Given the description of an element on the screen output the (x, y) to click on. 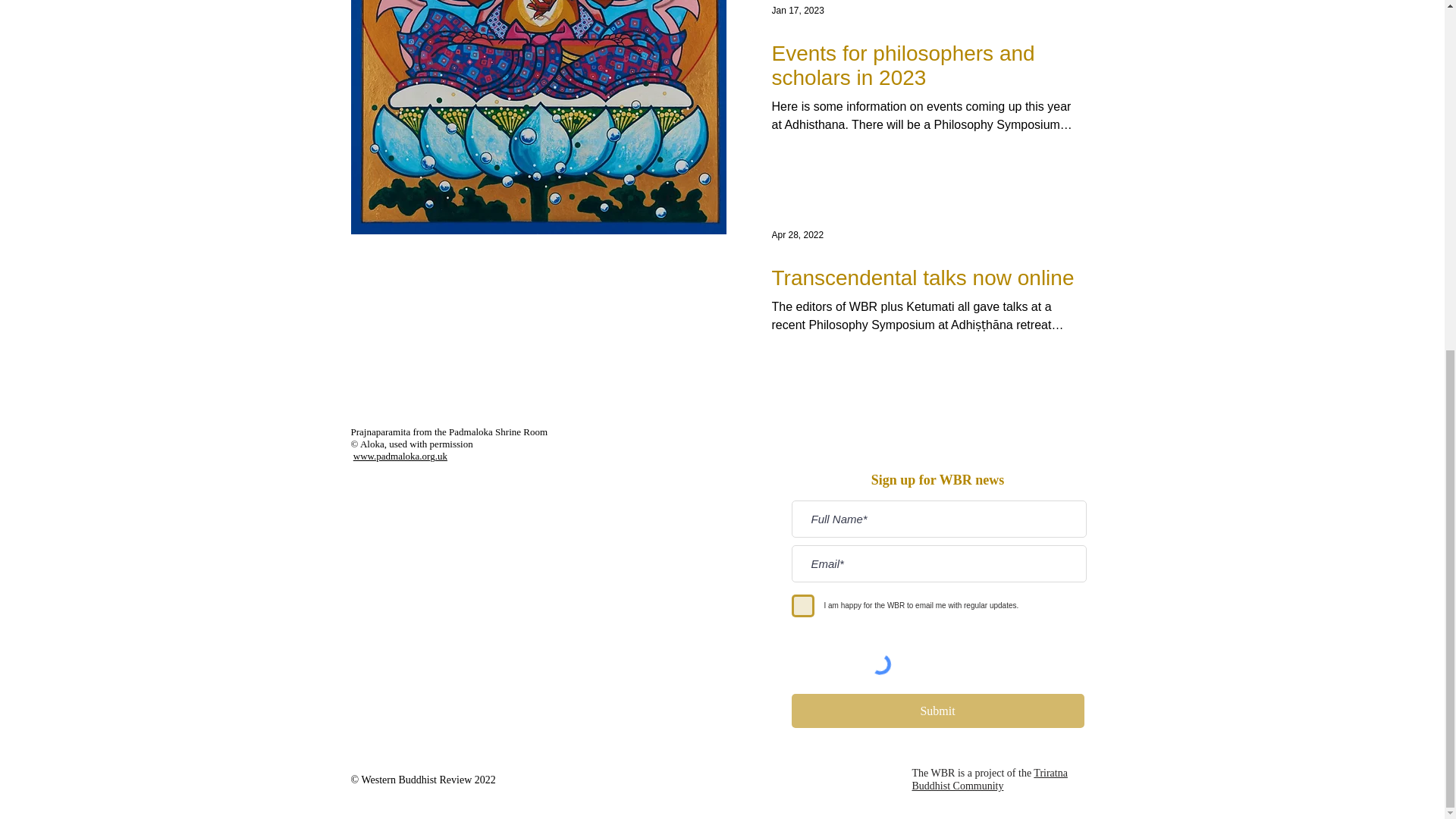
Submit (938, 710)
www.padmaloka.org.uk (399, 455)
Jan 17, 2023 (797, 9)
Apr 28, 2022 (797, 235)
Triratna Buddhist Community (989, 779)
Transcendental talks now online (923, 278)
Events for philosophers and scholars in 2023 (923, 65)
